Given the description of an element on the screen output the (x, y) to click on. 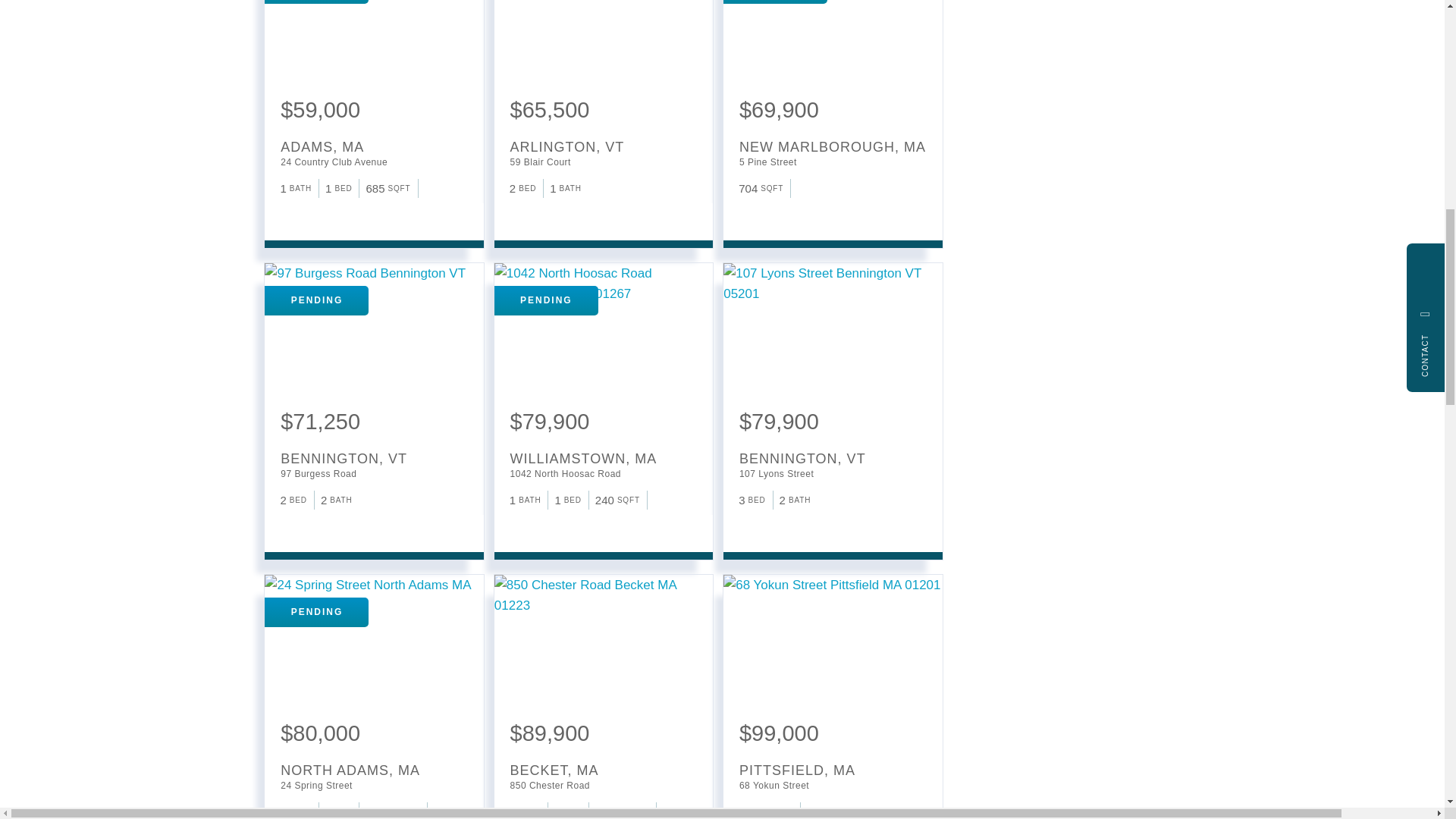
Favorite (283, 214)
Ask A Question (331, 214)
More Details (354, 214)
Schedule Tour (309, 214)
